Given the description of an element on the screen output the (x, y) to click on. 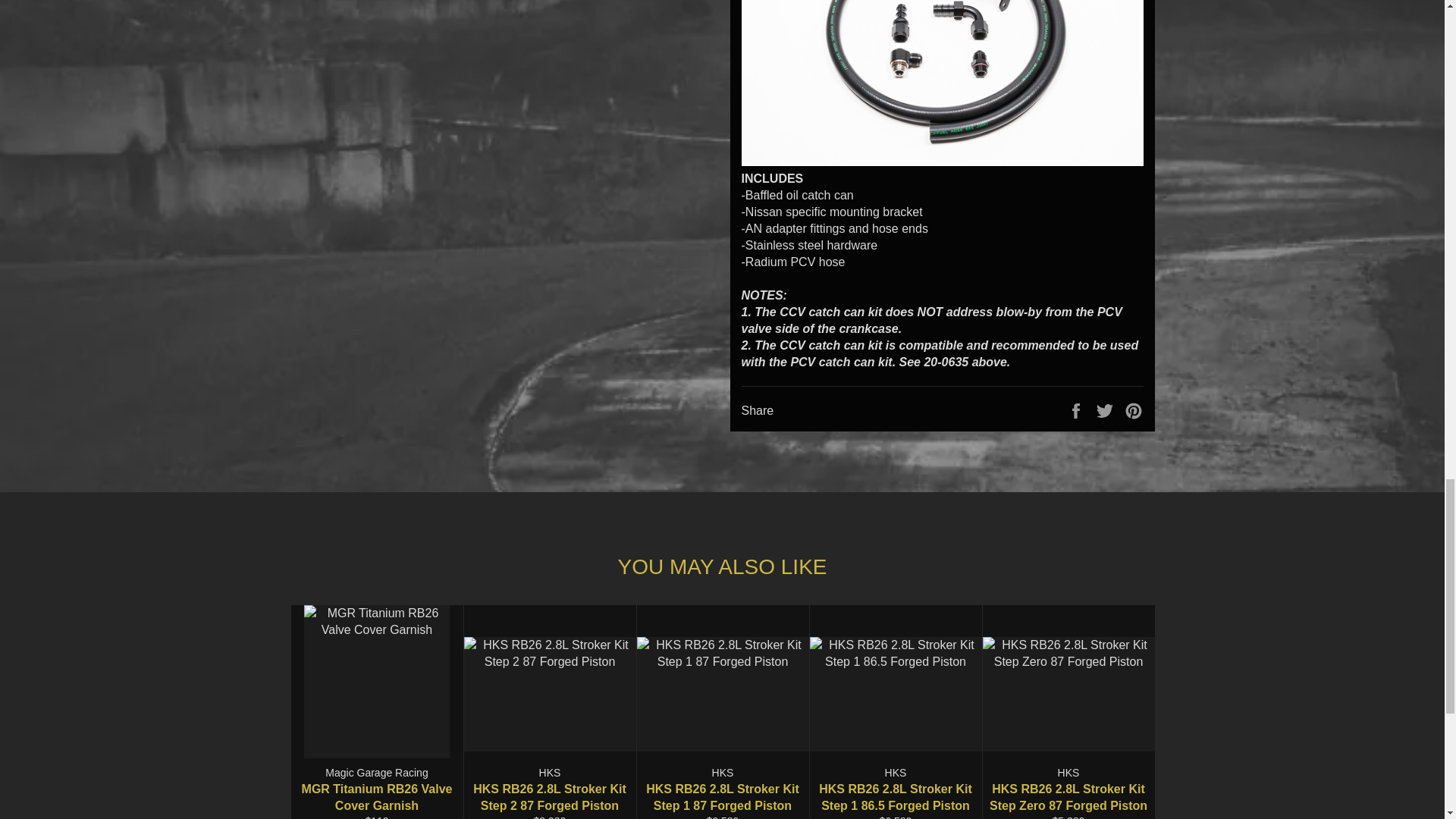
Pin on Pinterest (1133, 410)
Tweet on Twitter (1106, 410)
Share on Facebook (1077, 410)
